Given the description of an element on the screen output the (x, y) to click on. 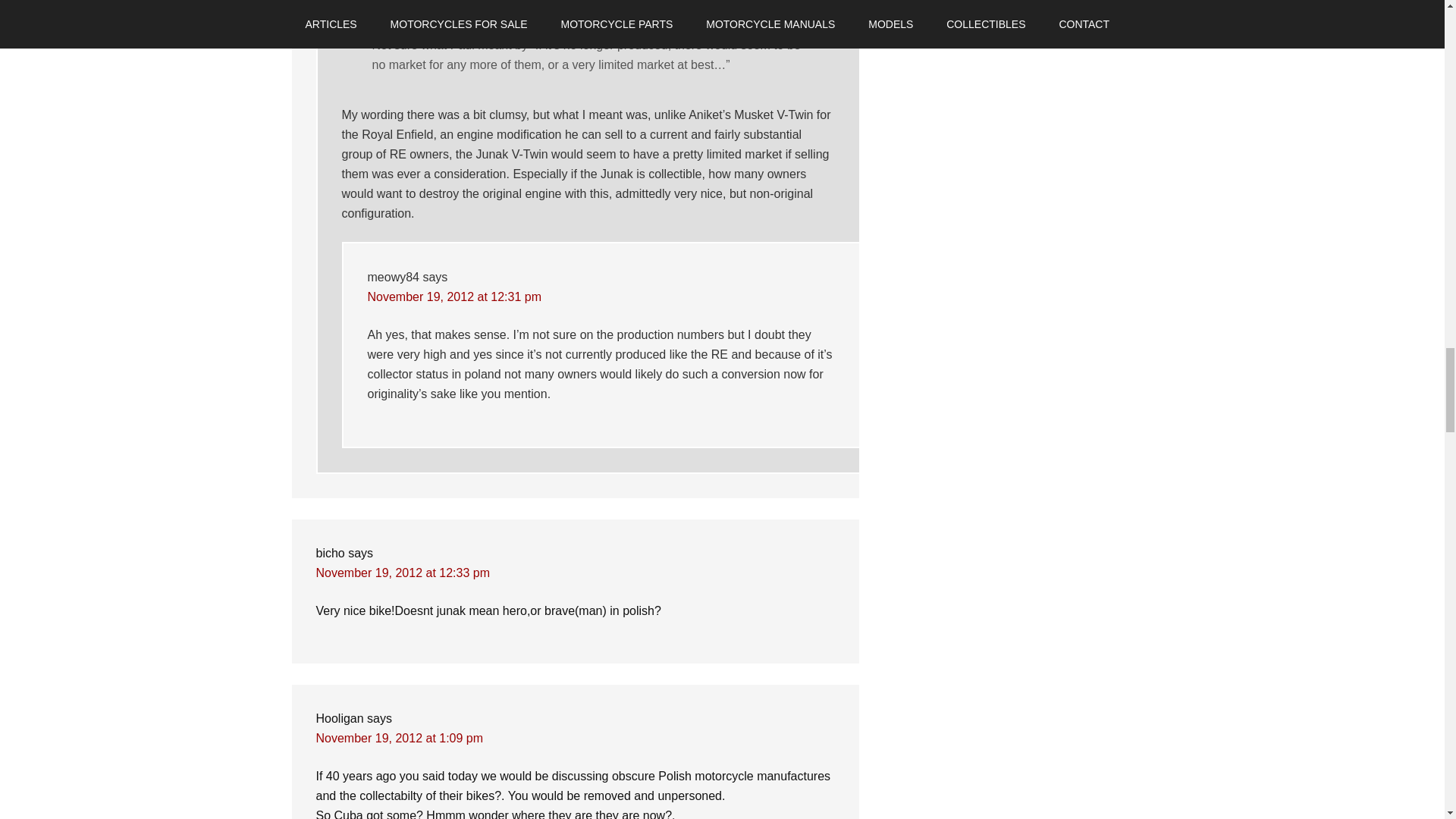
November 19, 2012 at 1:09 pm (399, 738)
November 19, 2012 at 12:31 pm (453, 296)
November 19, 2012 at 12:33 pm (402, 572)
